Given the description of an element on the screen output the (x, y) to click on. 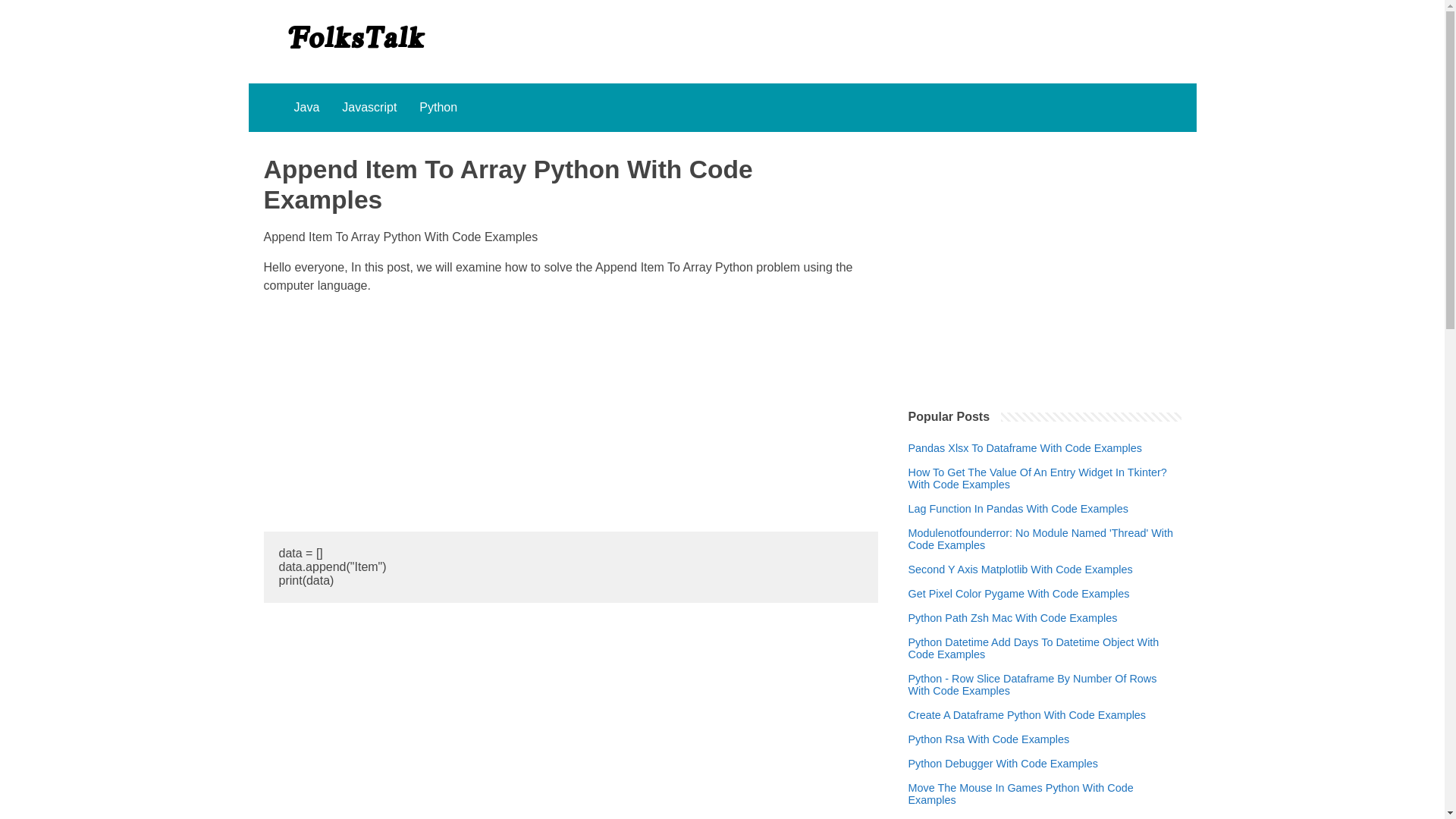
Get Pixel Color Pygame With Code Examples (1018, 593)
Advertisement (570, 413)
Second Y Axis Matplotlib With Code Examples (1020, 569)
Python (438, 107)
Advertisement (570, 719)
Javascript (369, 107)
Advertisement (1044, 260)
Lag Function In Pandas With Code Examples (1018, 508)
Create A Dataframe Python With Code Examples (1027, 715)
Python Rsa With Code Examples (989, 739)
Pandas Xlsx To Dataframe With Code Examples (1024, 448)
